Given the description of an element on the screen output the (x, y) to click on. 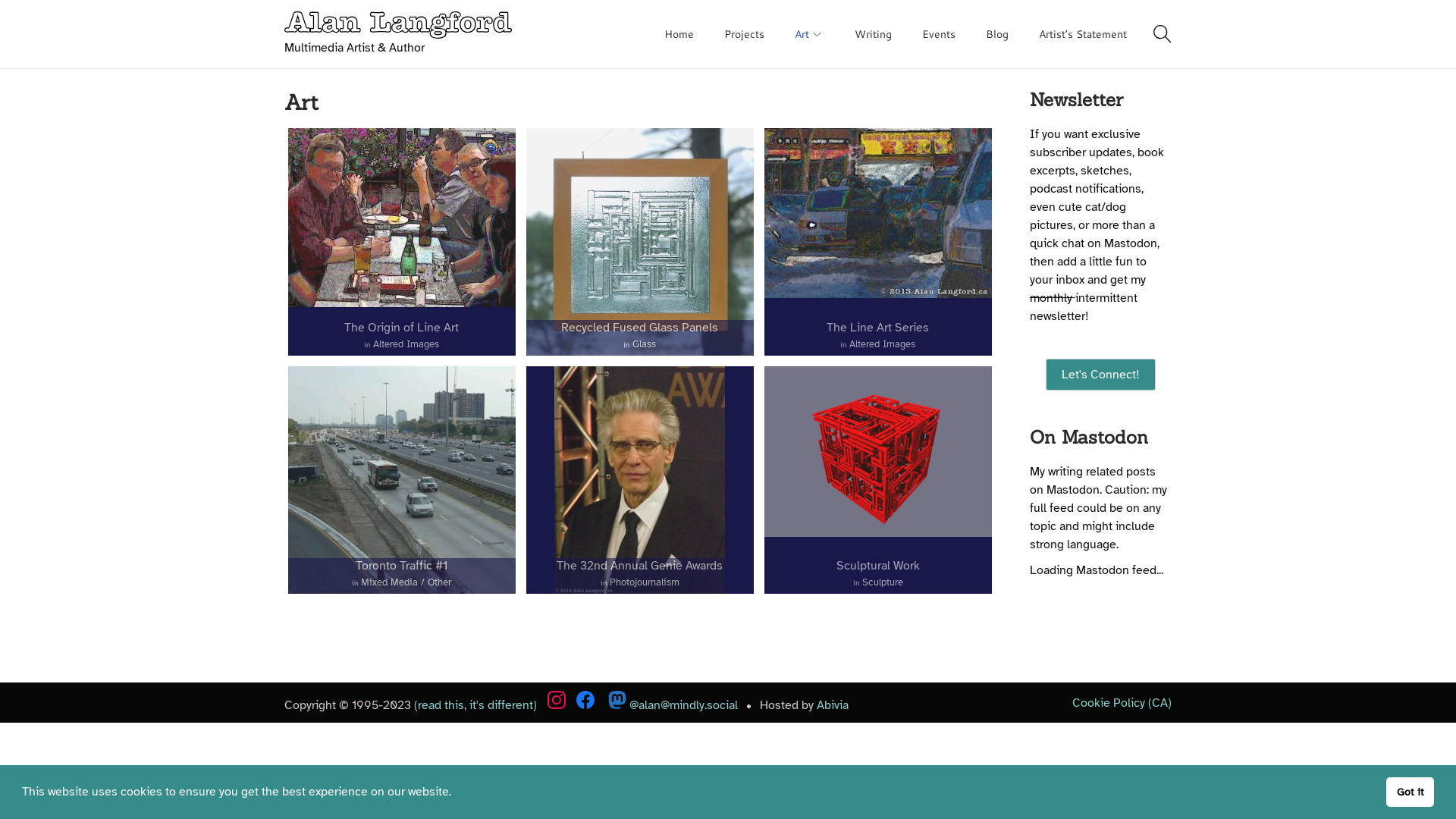
Events Element type: text (938, 34)
Projects Element type: text (744, 34)
Toronto Traffic #1 Element type: text (401, 565)
The Origin of Line Art Element type: text (401, 327)
Sculptural Work Element type: text (877, 565)
The 32nd Annual Genie Awards Element type: text (639, 565)
Blog Element type: text (996, 34)
(read this, it's different) Element type: text (475, 704)
Home Element type: text (678, 34)
Sculpture Element type: text (882, 582)
Search Element type: text (955, 428)
The Line Art Series Element type: text (877, 327)
Recycled Fused Glass Panels Element type: text (639, 327)
Abivia Element type: text (832, 704)
Mixed Media / Other Element type: text (405, 582)
Writing Element type: text (872, 34)
Art Element type: text (809, 34)
Glass Element type: text (643, 344)
Skip to navigation Element type: text (283, 33)
Got it Element type: text (1410, 791)
Altered Images Element type: text (882, 344)
Cookie Policy (CA) Element type: text (1121, 701)
Photojournalism Element type: text (644, 582)
Altered Images Element type: text (406, 344)
@alan@mindly.social Element type: text (672, 704)
Let's Connect! Element type: text (1100, 374)
